Given the description of an element on the screen output the (x, y) to click on. 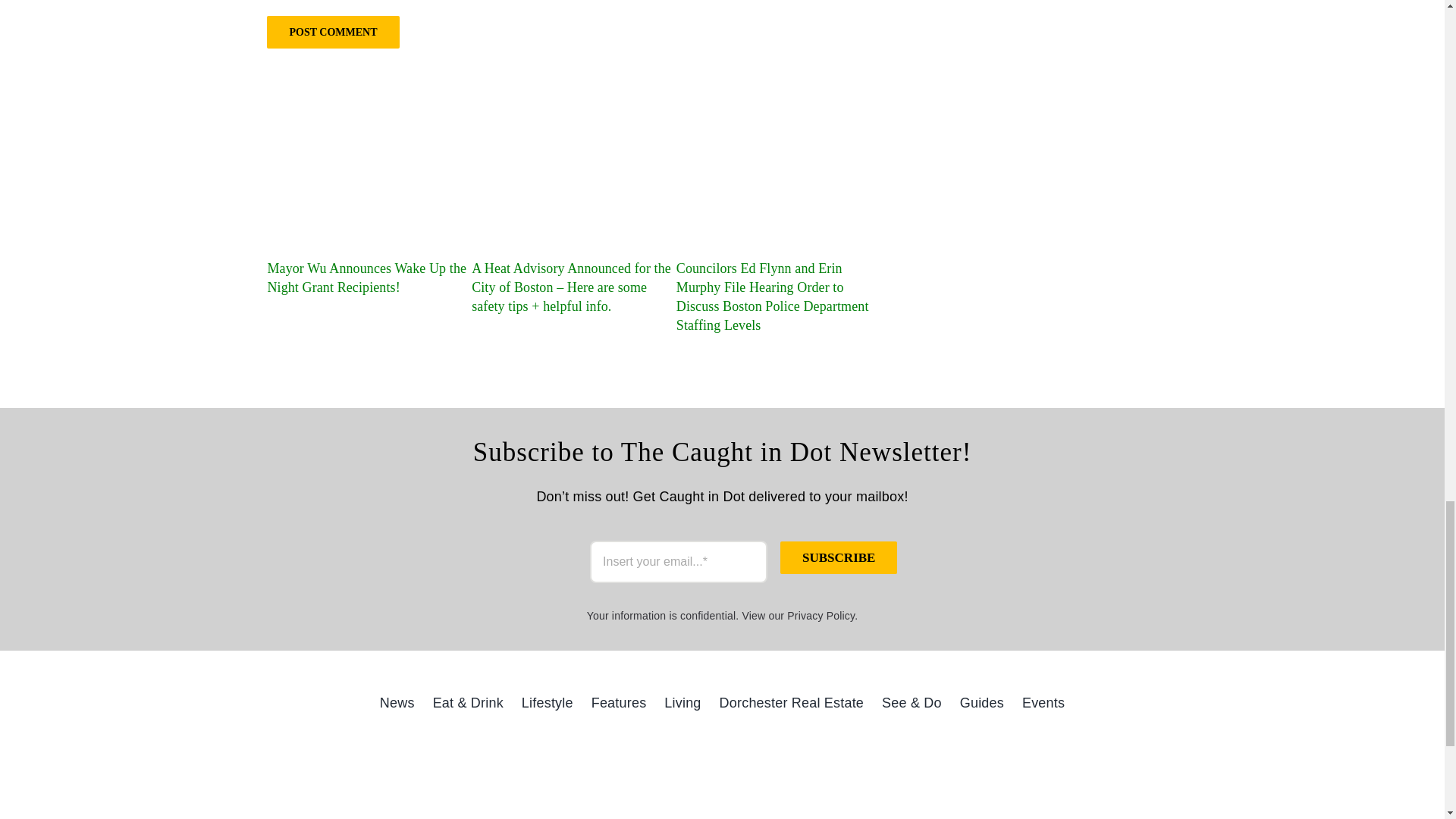
Subscribe (838, 557)
Post Comment (332, 31)
